Given the description of an element on the screen output the (x, y) to click on. 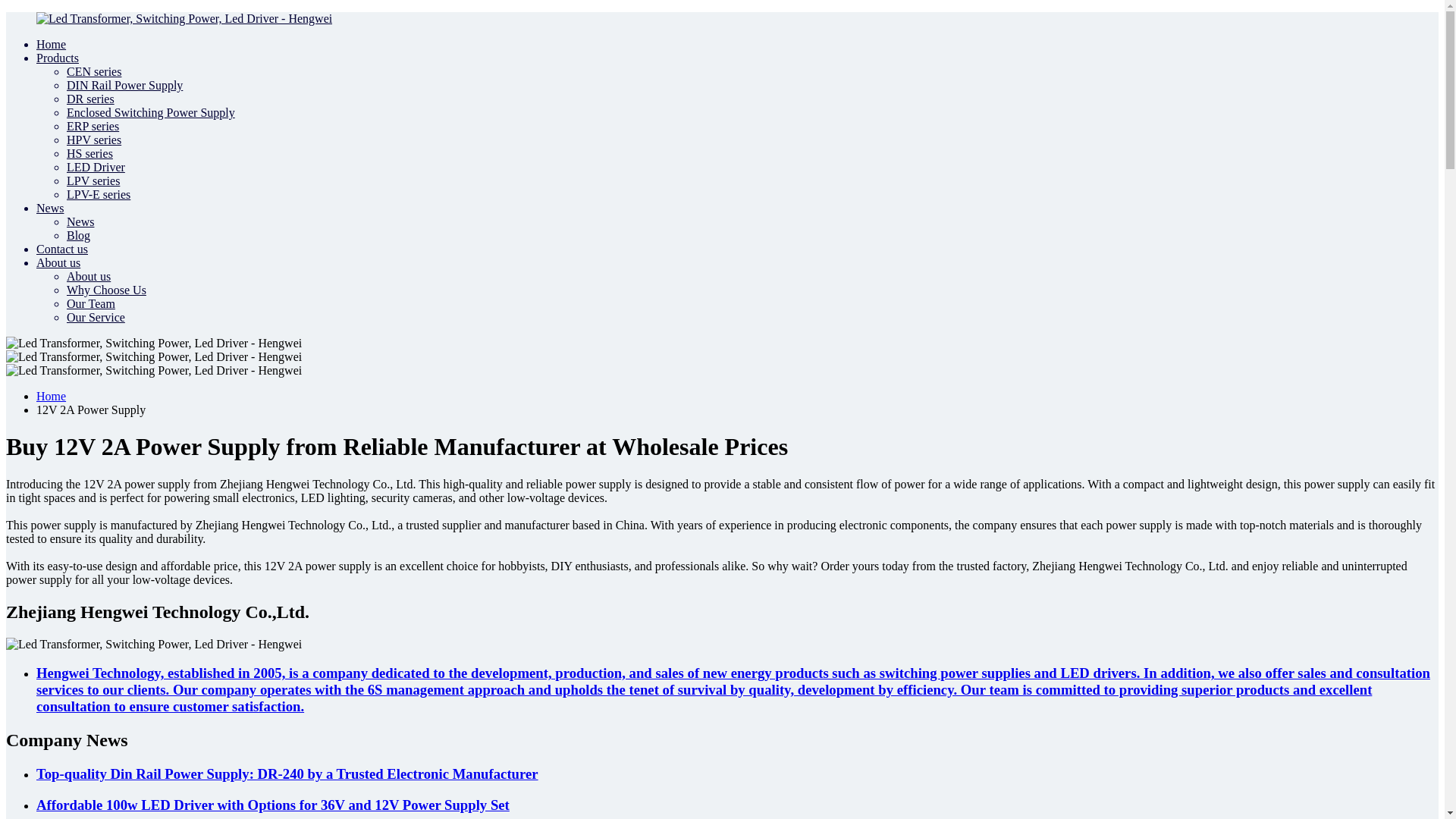
LED Driver (95, 166)
Home (50, 43)
News (50, 207)
HS series (89, 153)
Our Team (90, 303)
Home (50, 395)
DR series (90, 98)
Contact us (61, 248)
Blog (78, 235)
Why Choose Us (106, 289)
